Given the description of an element on the screen output the (x, y) to click on. 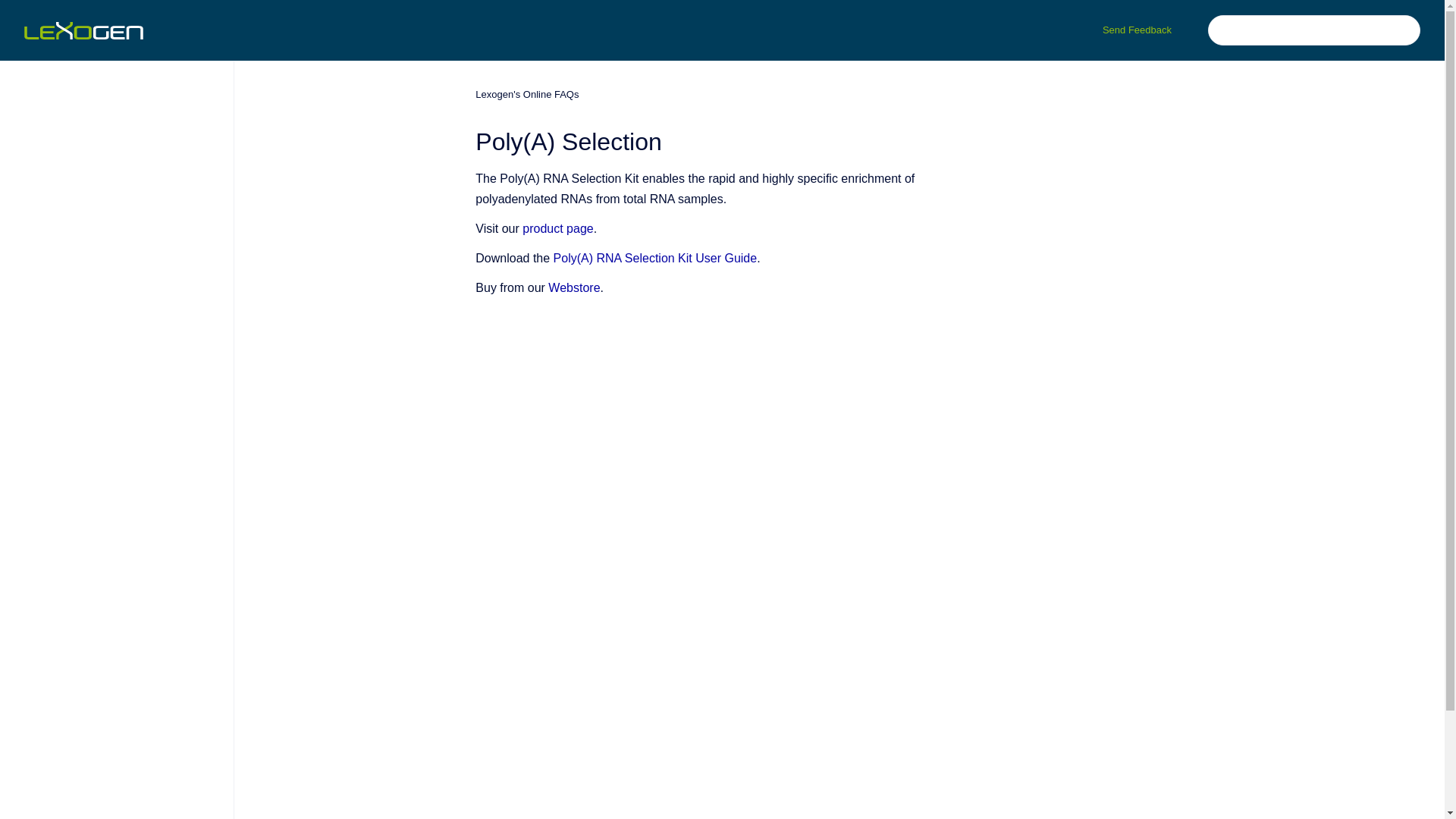
Lexogen's Online FAQs (527, 94)
Send Feedback (1136, 29)
product page (557, 228)
Go to homepage (83, 29)
Webstore (573, 287)
